Given the description of an element on the screen output the (x, y) to click on. 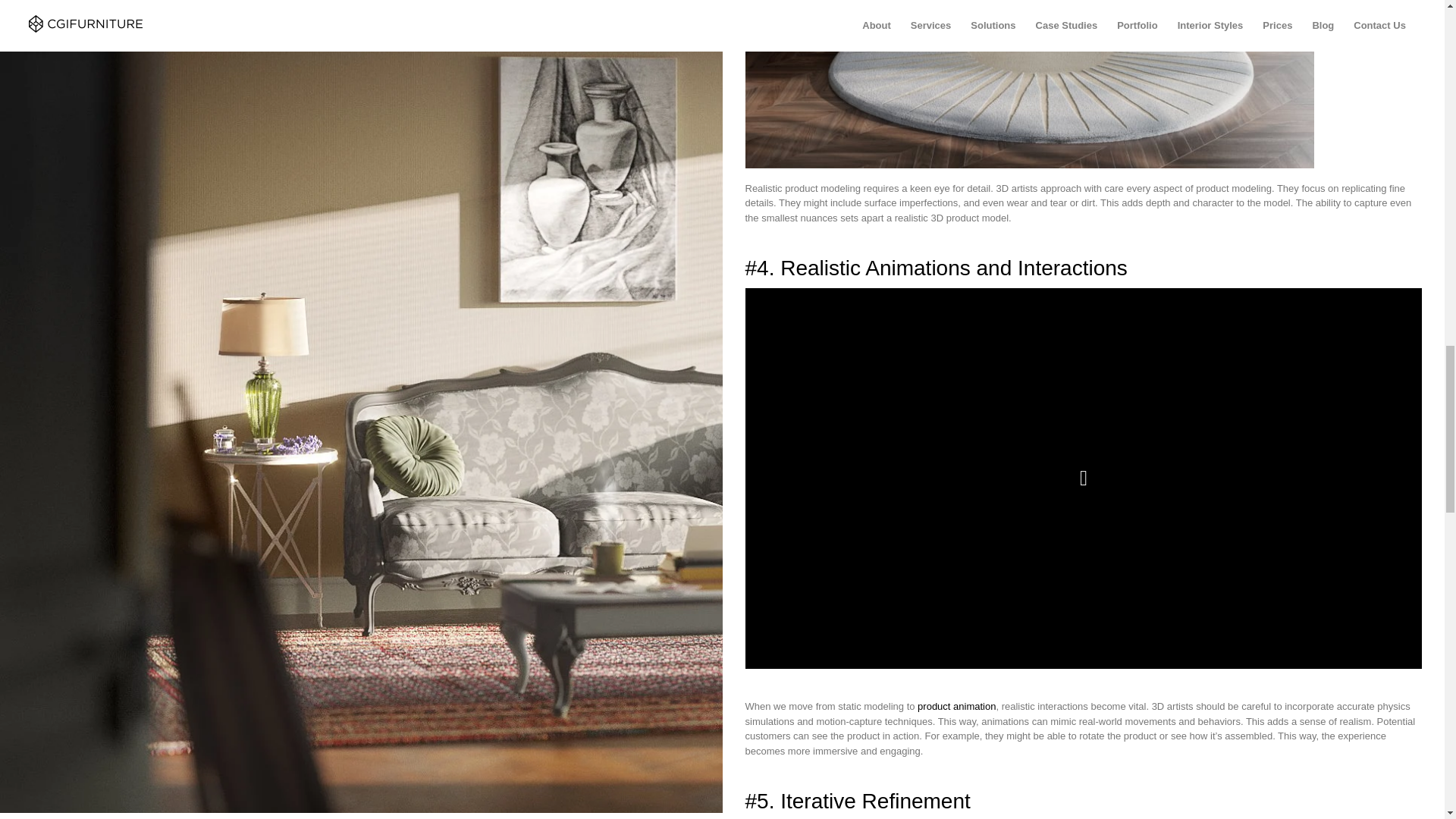
product animation (956, 706)
Realistic 3D Modeling (1028, 84)
